Given the description of an element on the screen output the (x, y) to click on. 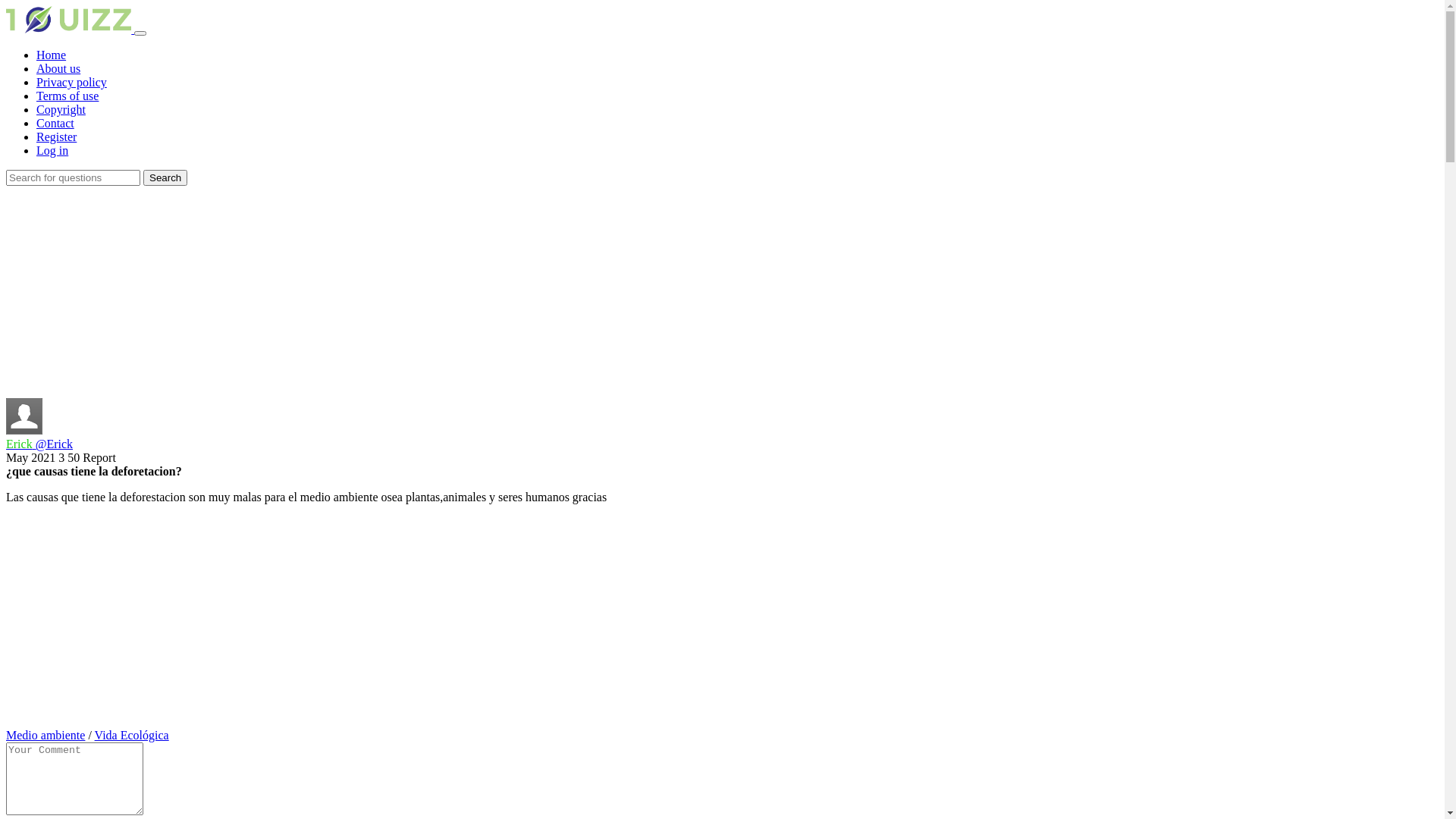
Search Element type: text (165, 177)
Erick @Erick Element type: text (722, 437)
Terms of use Element type: text (67, 95)
Copyright Element type: text (60, 109)
Contact Element type: text (55, 122)
Log in Element type: text (52, 150)
About us Element type: text (58, 68)
Report Element type: text (99, 457)
Register Element type: text (56, 136)
Privacy policy Element type: text (71, 81)
Medio ambiente Element type: text (45, 734)
Home Element type: text (50, 54)
